Given the description of an element on the screen output the (x, y) to click on. 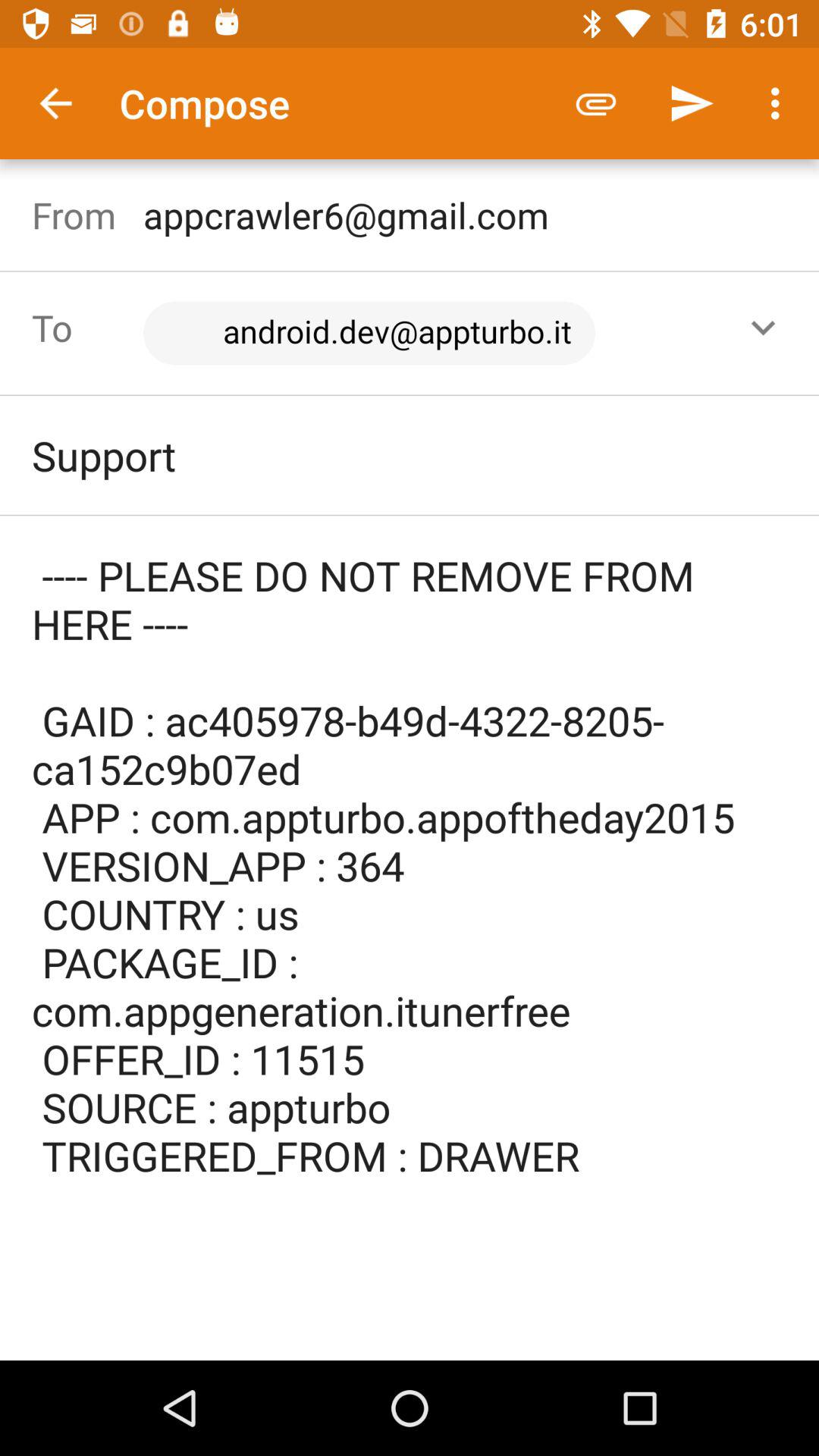
click the icon above the from (55, 103)
